Given the description of an element on the screen output the (x, y) to click on. 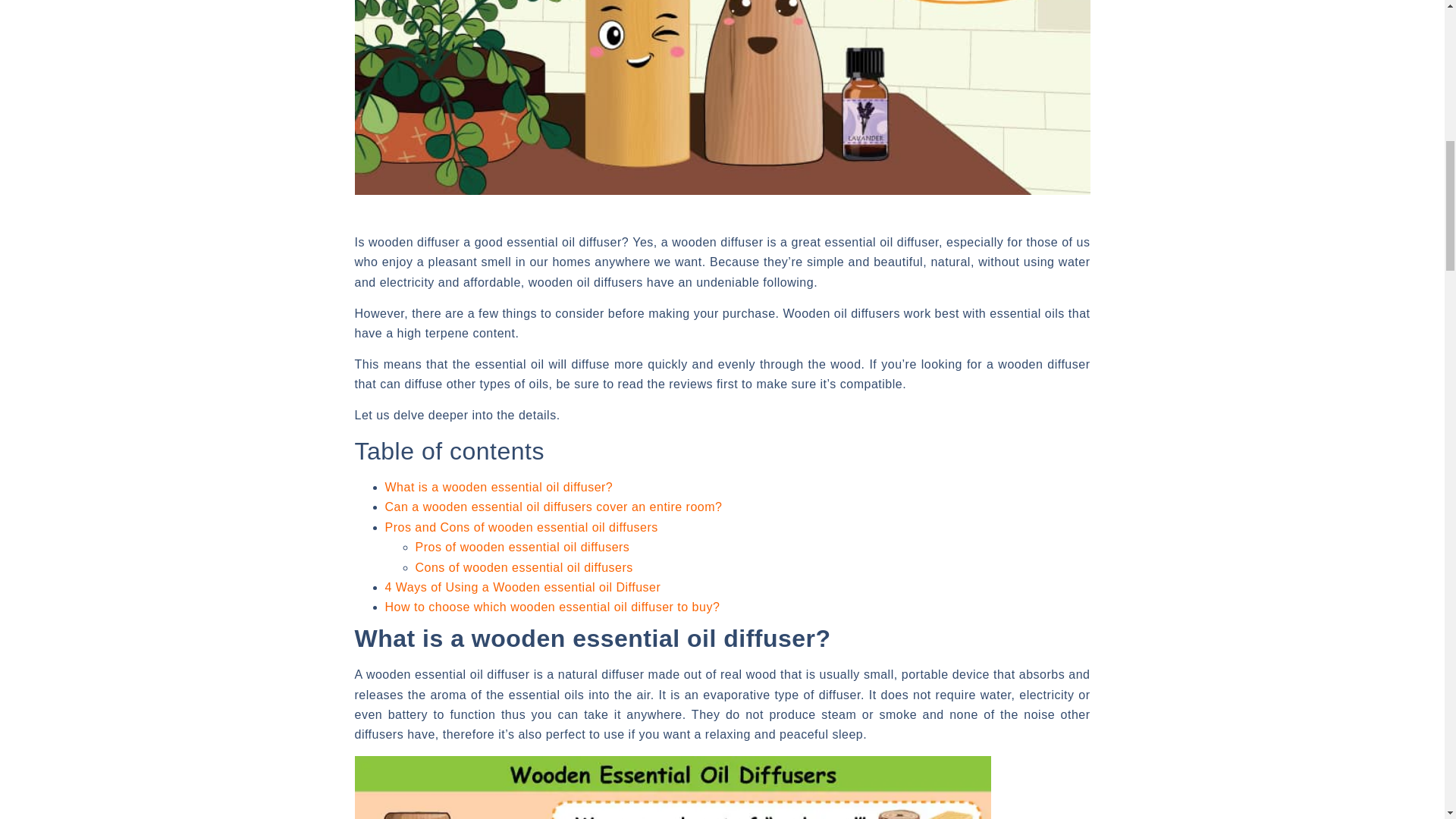
What is a wooden essential oil diffuser? (498, 486)
Pros and Cons of wooden essential oil diffusers (521, 526)
How to choose which wooden essential oil diffuser to buy? (552, 606)
4 Ways of Using a Wooden essential oil Diffuser (523, 586)
Cons of wooden essential oil diffusers (523, 567)
Can a wooden essential oil diffusers cover an entire room? (553, 506)
Pros of wooden essential oil diffusers (522, 546)
